Given the description of an element on the screen output the (x, y) to click on. 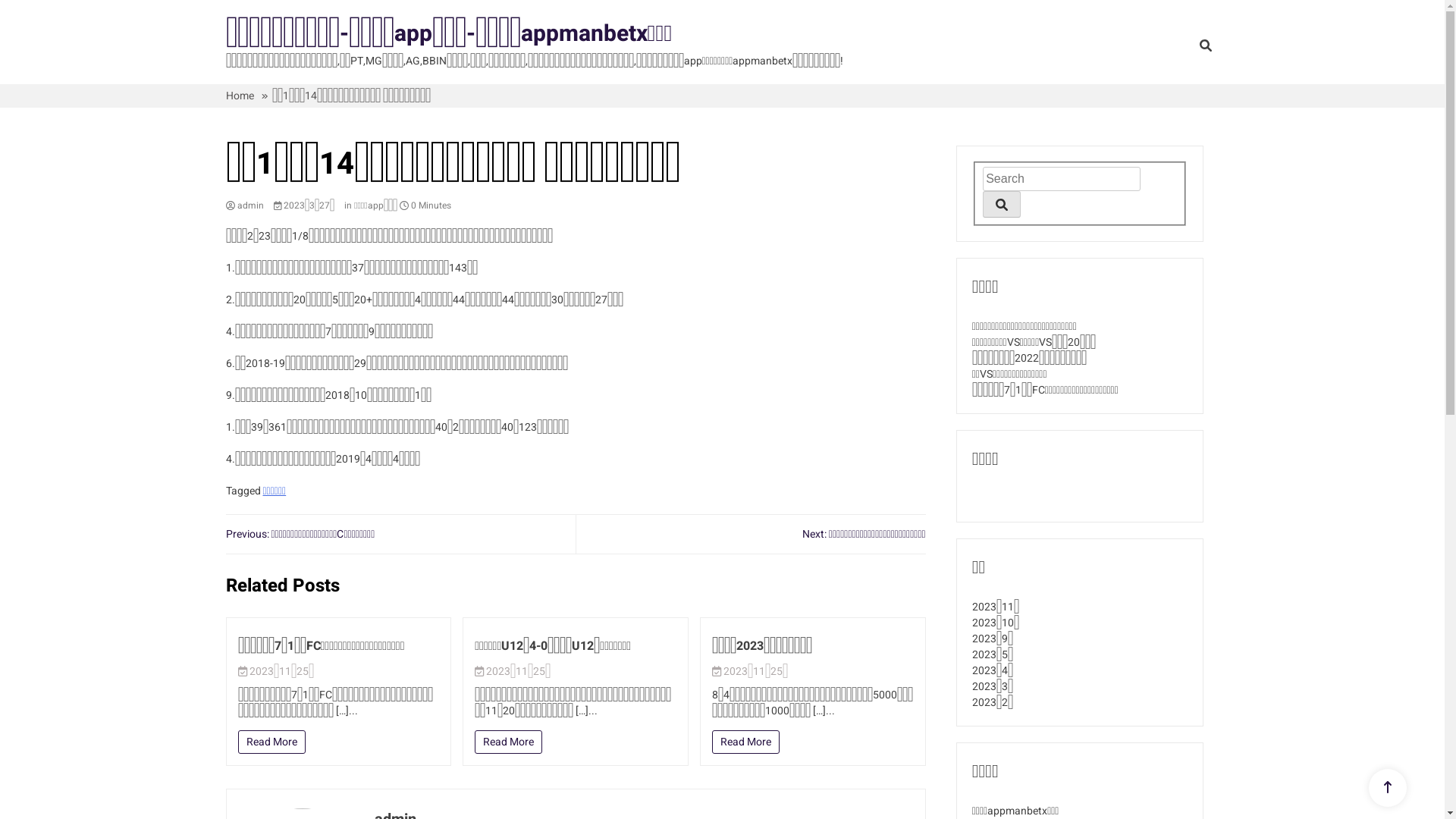
admin Element type: text (244, 205)
Read More Element type: text (271, 741)
Home Element type: text (239, 95)
Read More Element type: text (745, 741)
Read More Element type: text (508, 741)
